Given the description of an element on the screen output the (x, y) to click on. 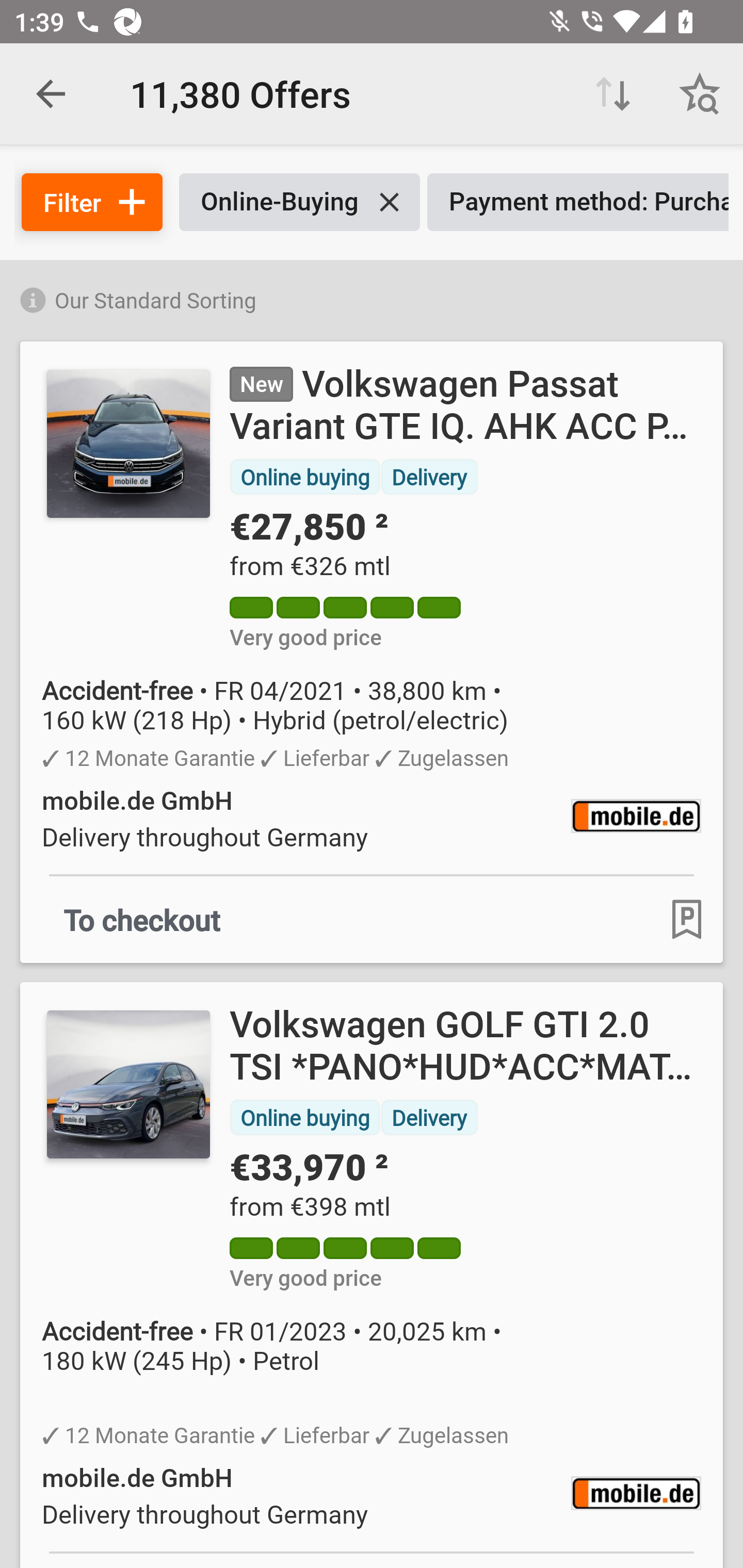
Navigate up (50, 93)
Sort options (612, 93)
Save search (699, 93)
Online-Buying Remove Online-Buying (299, 202)
Payment method: Purchase (577, 202)
Filter (91, 202)
Our Standard Sorting (371, 296)
To checkout (142, 919)
